Given the description of an element on the screen output the (x, y) to click on. 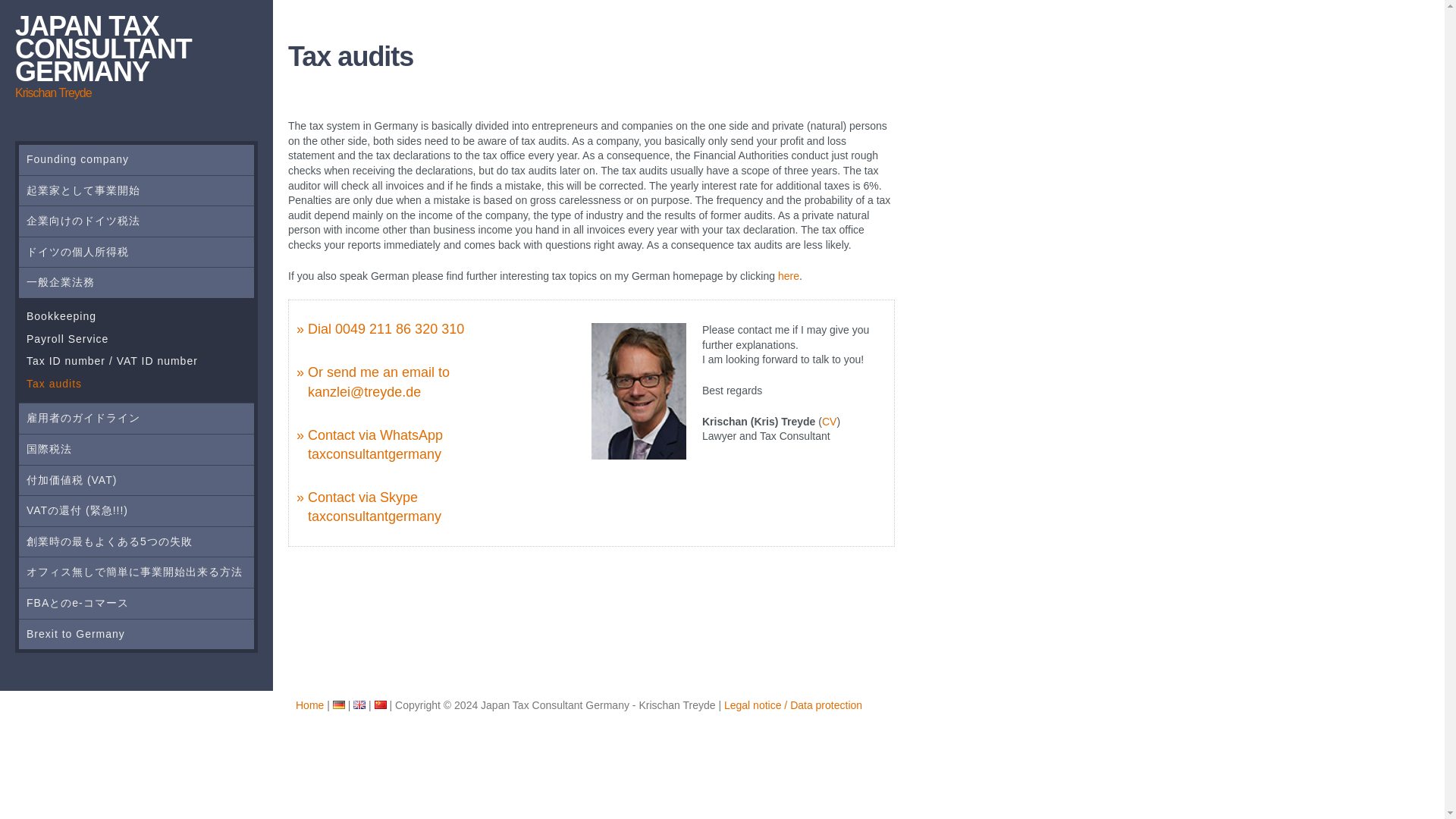
Legal notice (792, 705)
Founding company (135, 159)
Japan Tax Consultant Germany (103, 48)
Krischan Treyde (828, 421)
Bookkeeping (136, 316)
Tax consultant Duesseldorf (309, 705)
JAPAN TAX CONSULTANT GERMANY (103, 48)
Tax audits (136, 384)
Payroll Service (136, 339)
